Given the description of an element on the screen output the (x, y) to click on. 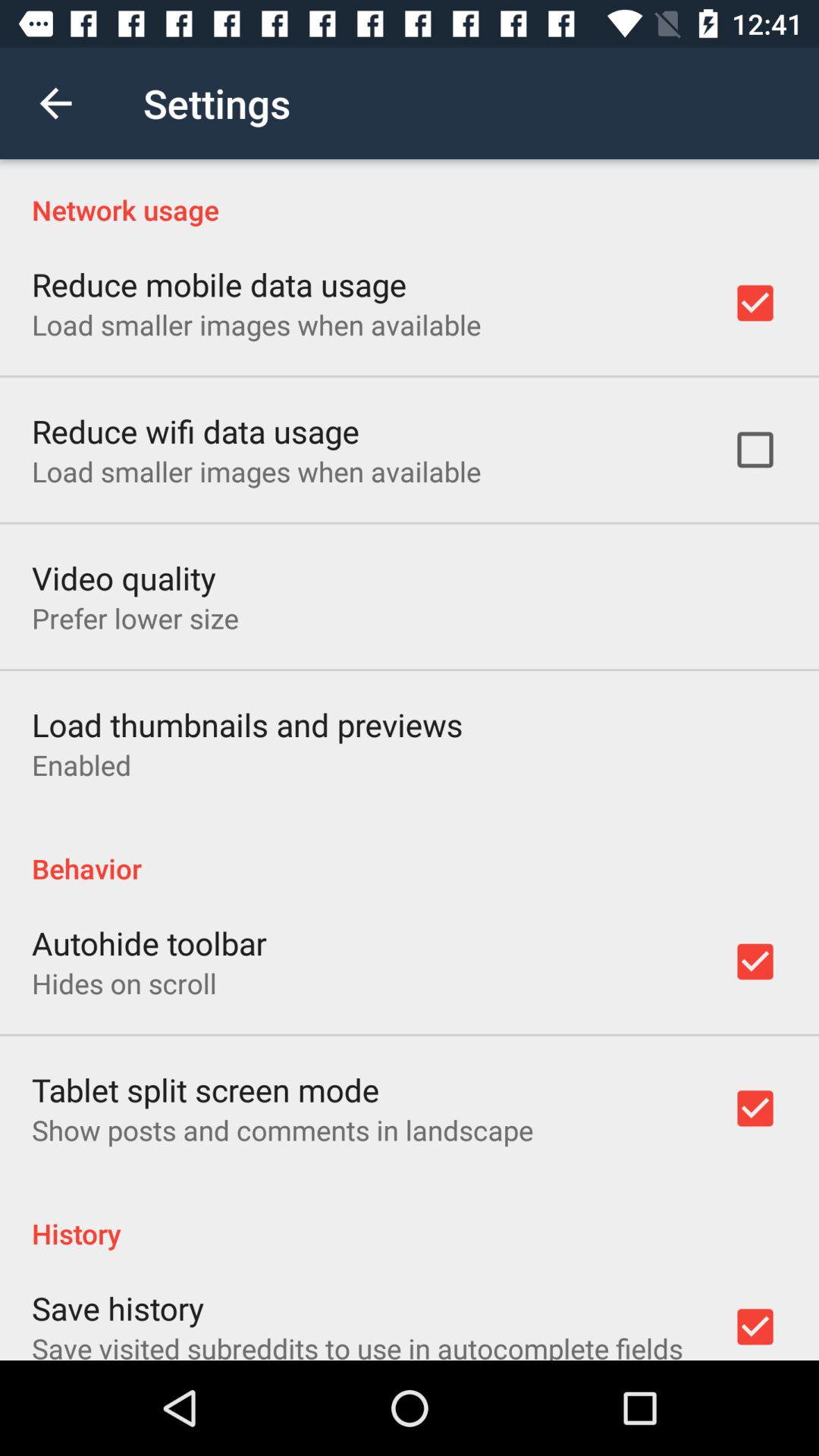
turn off the prefer lower size (134, 618)
